Given the description of an element on the screen output the (x, y) to click on. 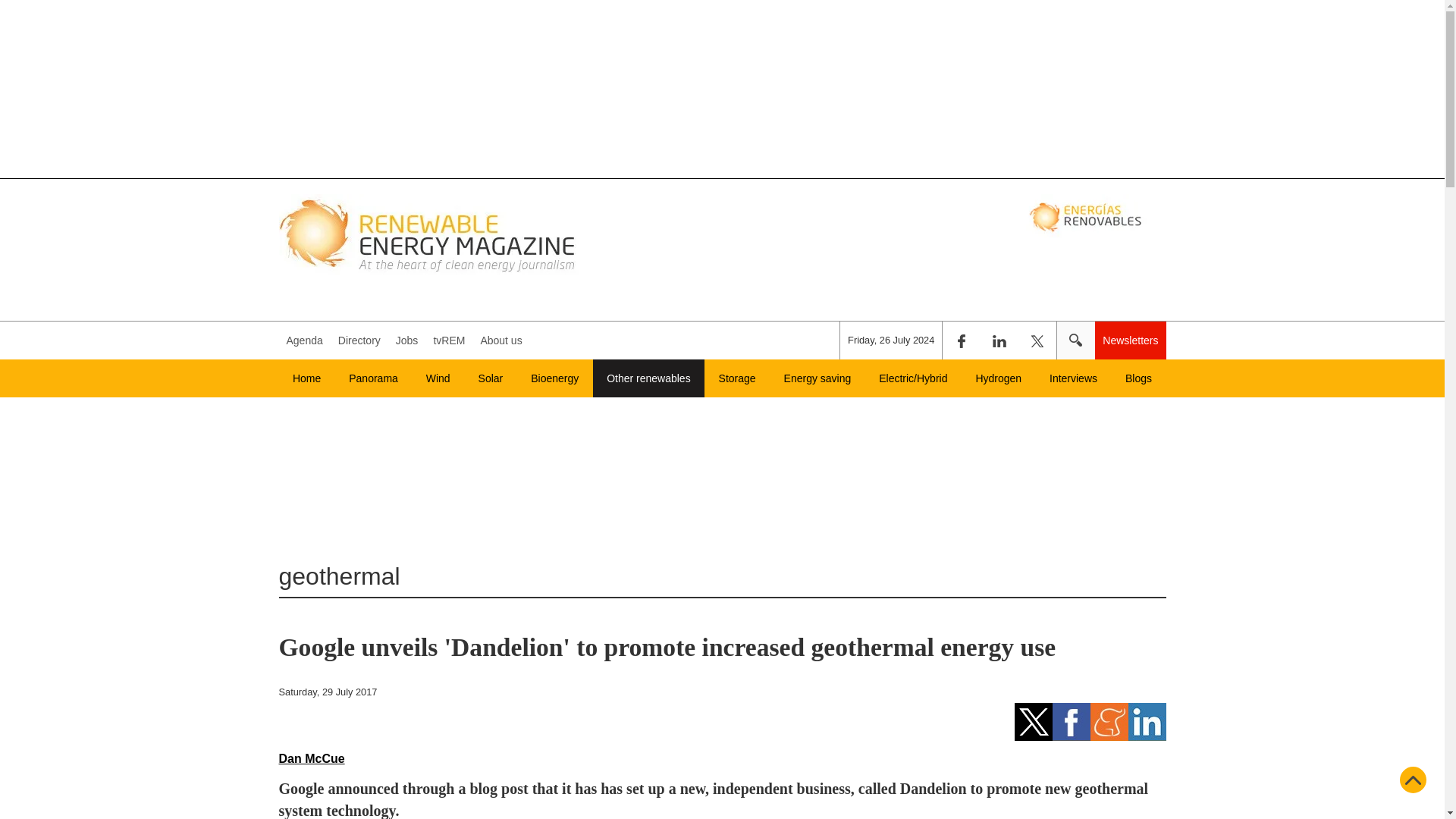
tvREM (448, 340)
Ir a Inicio (429, 234)
Go to Solar (490, 378)
Go to Panorama (373, 378)
Directory (359, 340)
Other renewables (648, 378)
Go to About us (500, 340)
Energy saving (817, 378)
Jobs (407, 340)
Hydrogen (997, 378)
